Given the description of an element on the screen output the (x, y) to click on. 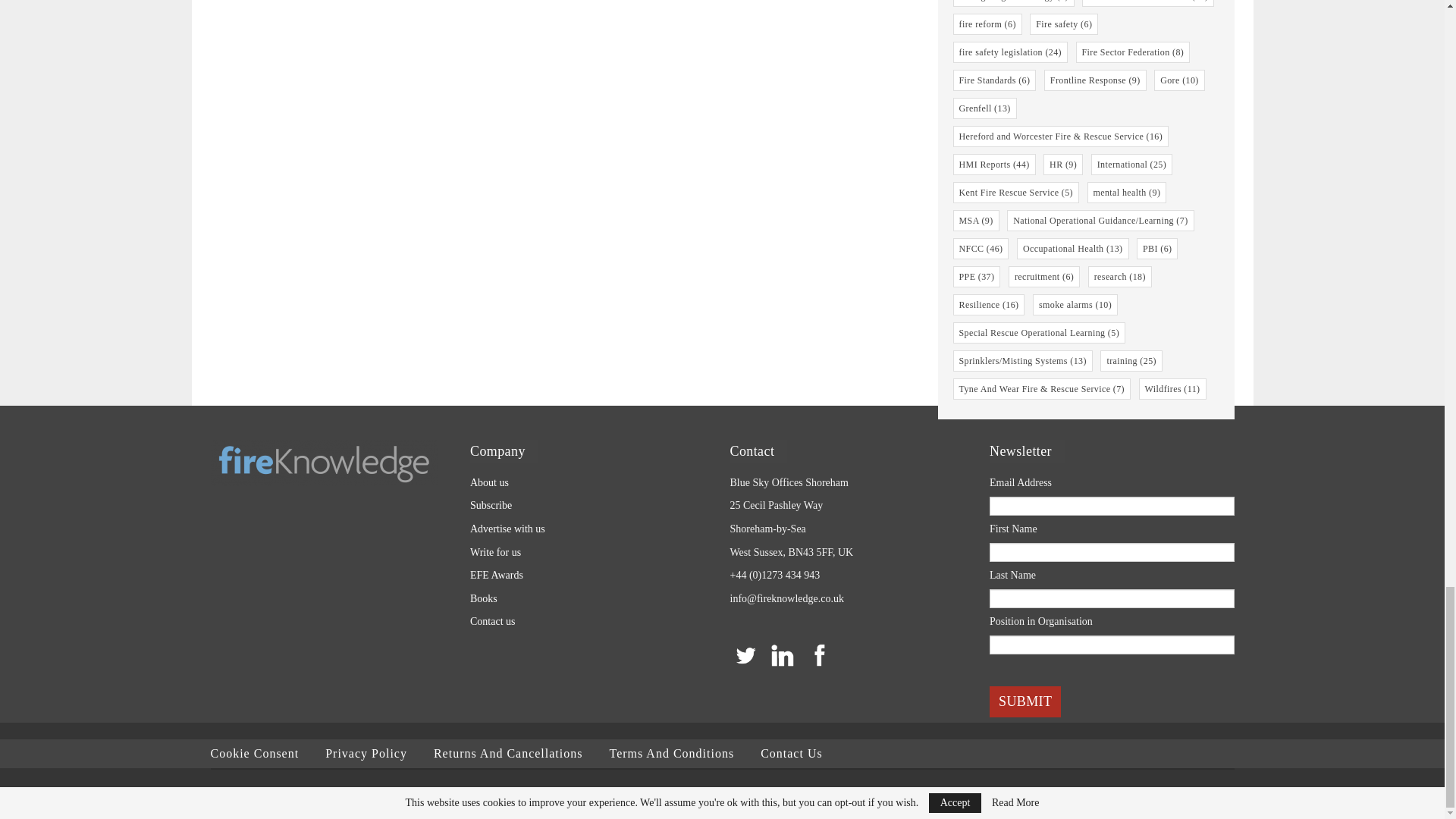
Submit (1025, 701)
